Given the description of an element on the screen output the (x, y) to click on. 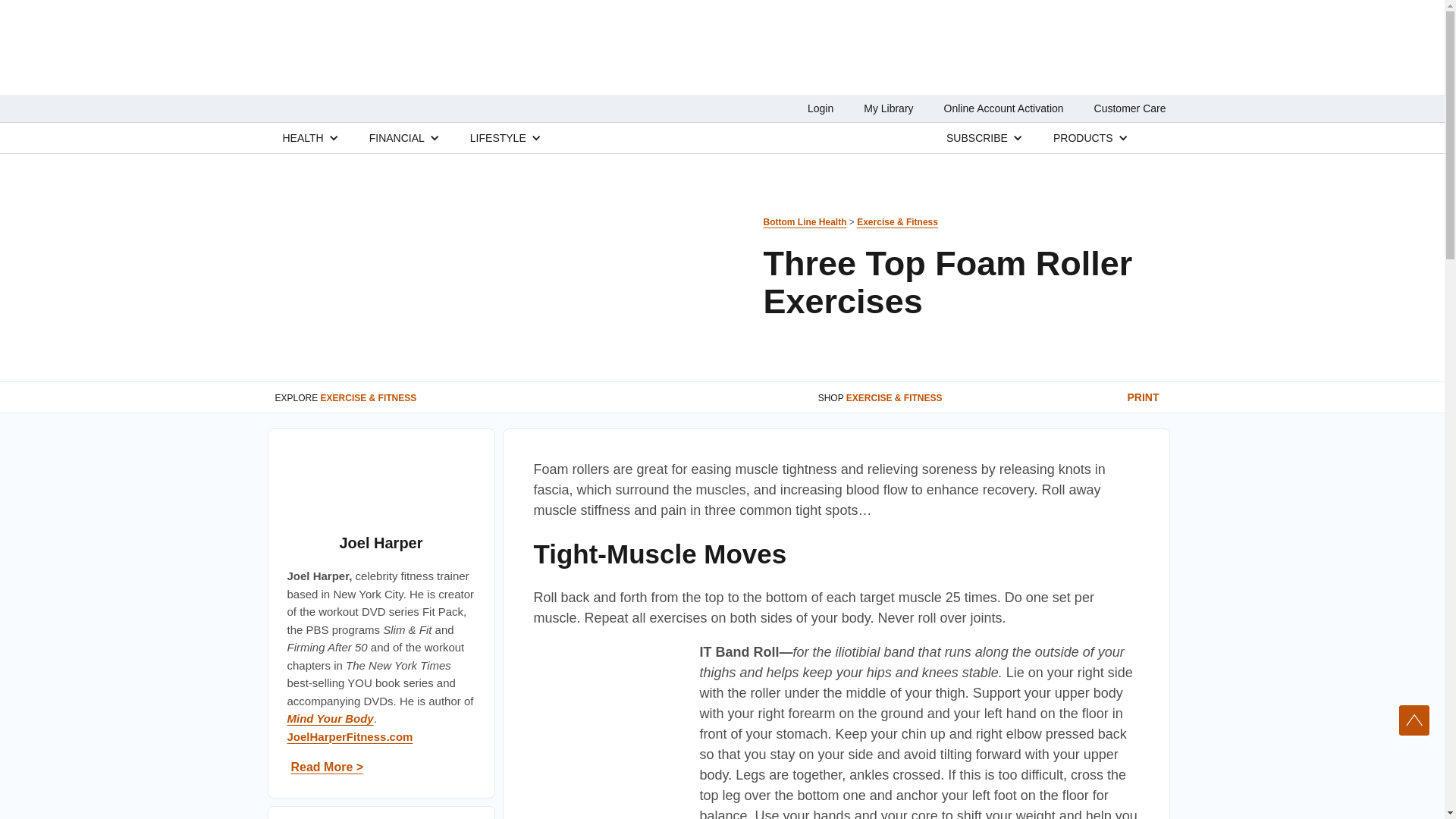
My Library (887, 108)
Scroll To Top (1414, 720)
Login (820, 108)
FINANCIAL (397, 137)
Customer Care (1130, 108)
Scroll To Top (1414, 720)
LIFESTYLE (497, 137)
Scroll To Top (1414, 720)
HEALTH (302, 137)
Online Account Activation (1003, 108)
